Given the description of an element on the screen output the (x, y) to click on. 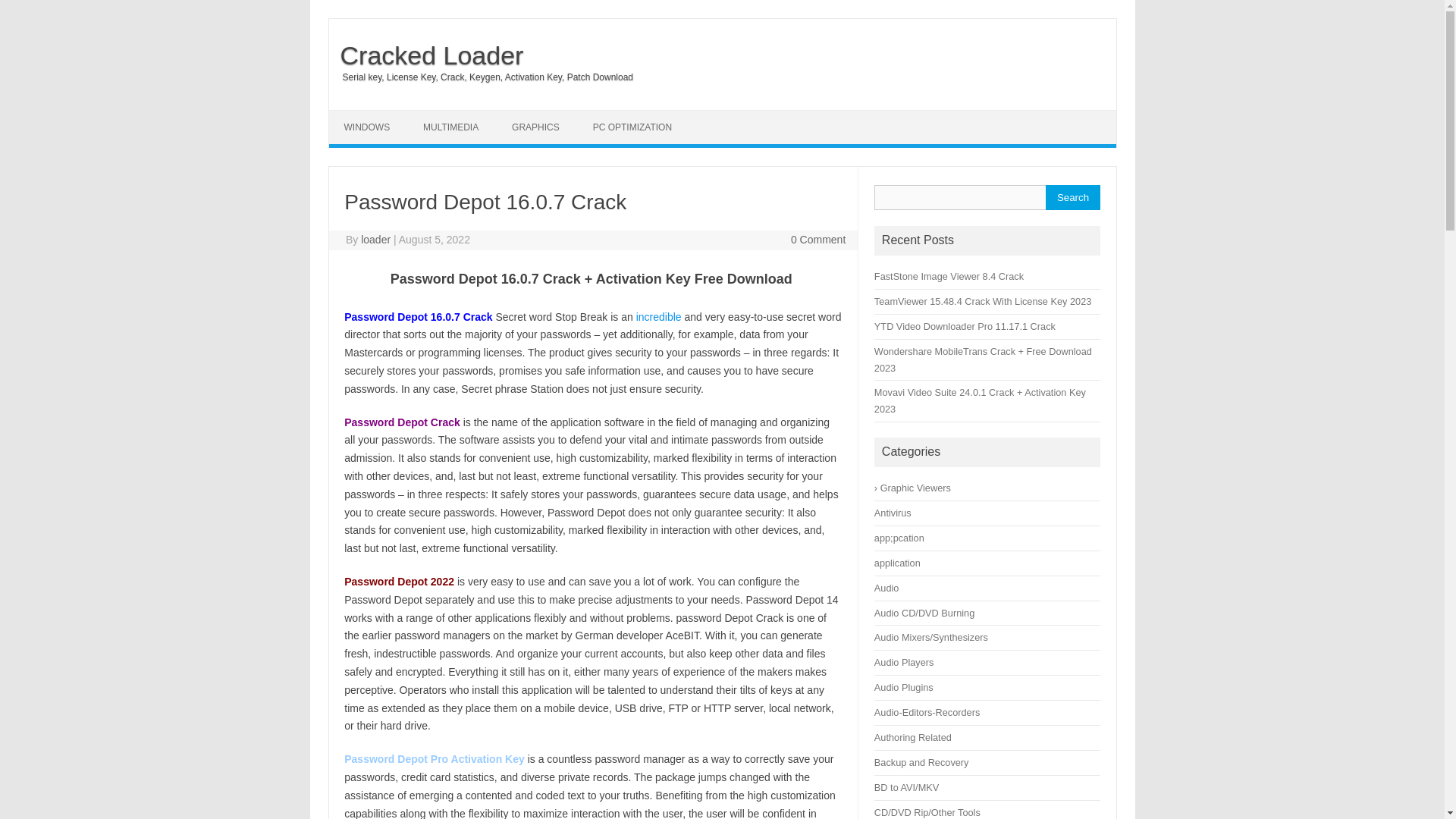
Audio Players (904, 662)
Search (1072, 197)
loader (375, 239)
MULTIMEDIA (450, 127)
WINDOWS (367, 127)
Authoring Related (913, 737)
0 Comment (817, 239)
YTD Video Downloader Pro 11.17.1 Crack (965, 326)
GRAPHICS (535, 127)
